Given the description of an element on the screen output the (x, y) to click on. 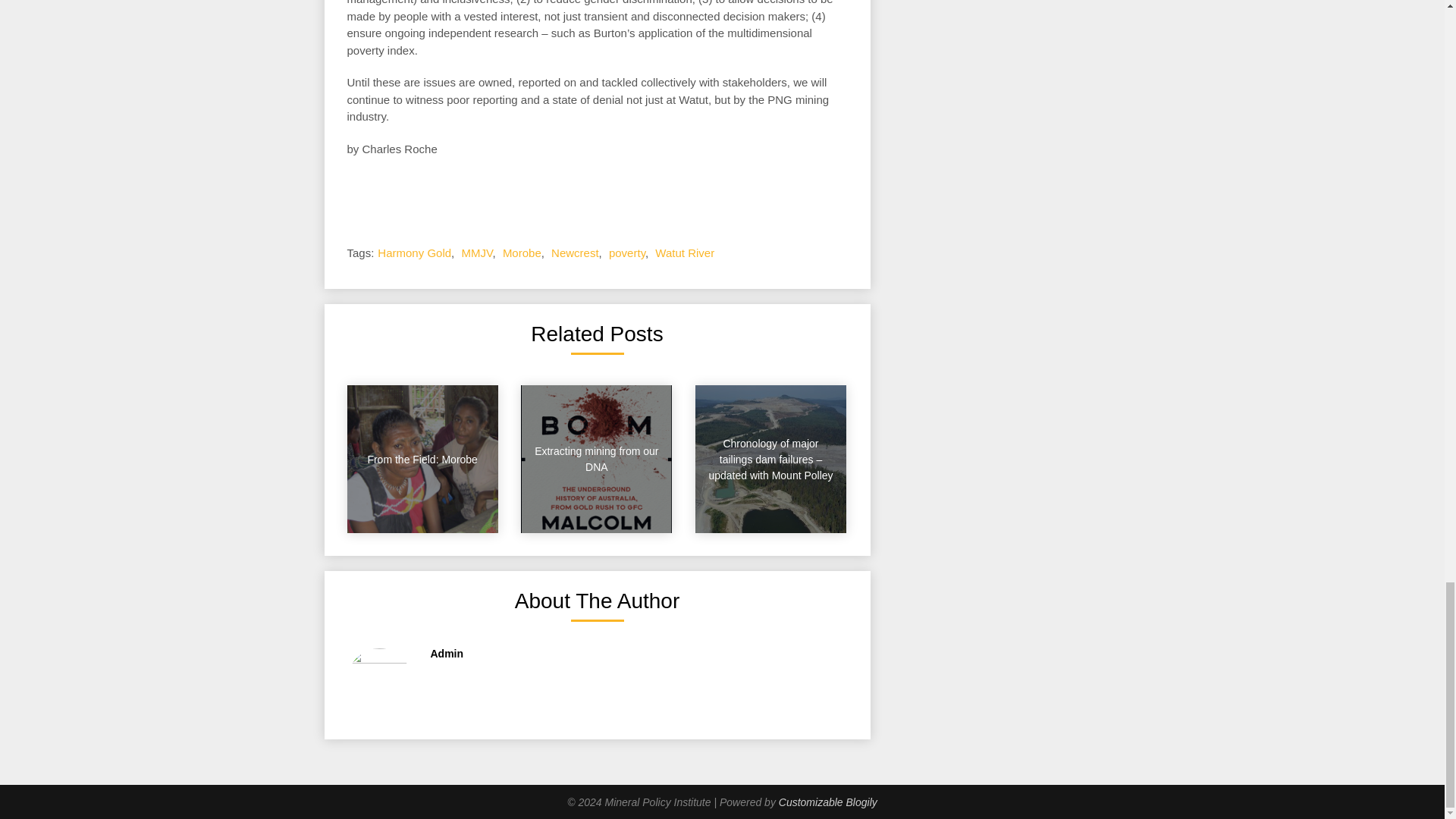
Watut River (684, 252)
Harmony Gold (414, 252)
MMJV (476, 252)
Newcrest (574, 252)
poverty (626, 252)
Customizable Blogily (827, 802)
Morobe (521, 252)
